Given the description of an element on the screen output the (x, y) to click on. 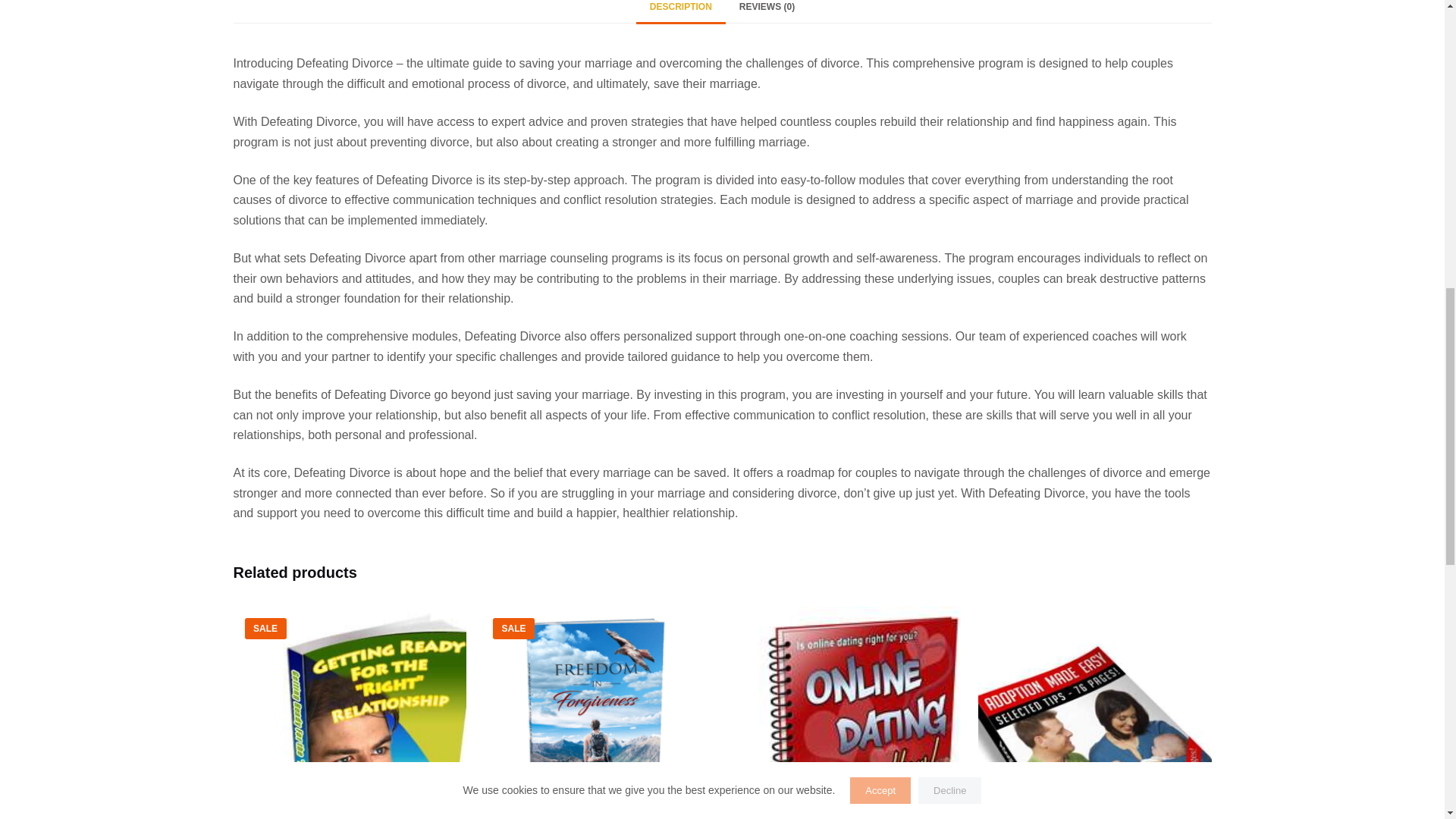
Online Dating Know How (845, 712)
Freedom In Forgiveness (597, 712)
Getting Ready for the Right Relationship (349, 712)
Adoption Made Easy (1094, 712)
DESCRIPTION (680, 11)
